Given the description of an element on the screen output the (x, y) to click on. 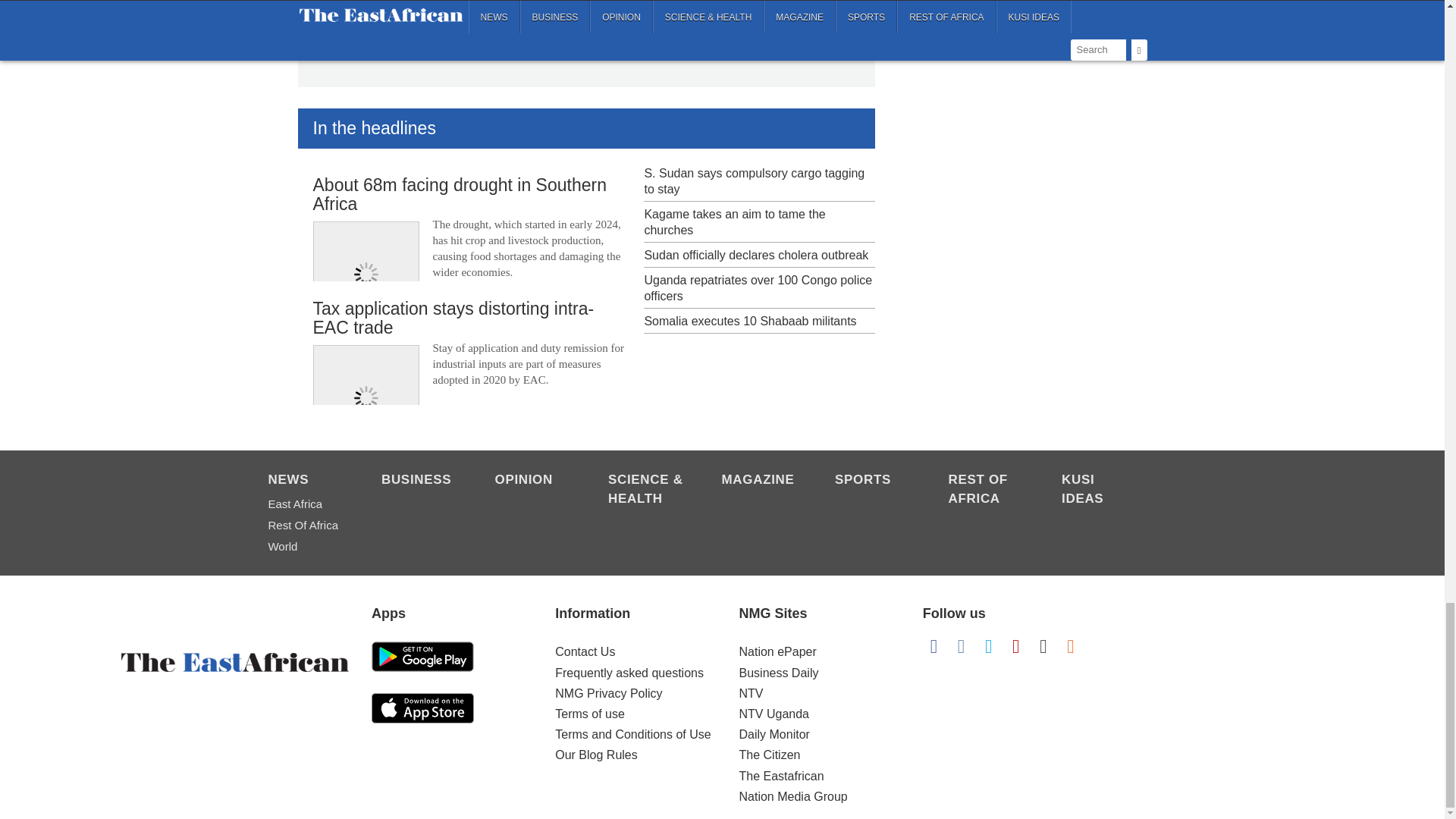
Rest of Africa (306, 525)
Rest of Africa (987, 490)
Frequently asked questions (628, 672)
Contact Us (584, 651)
World (306, 546)
Sports (873, 480)
NMG Privacy Policy (608, 693)
KUSI IDEAS (1099, 490)
News (306, 480)
Opinion (533, 480)
